Given the description of an element on the screen output the (x, y) to click on. 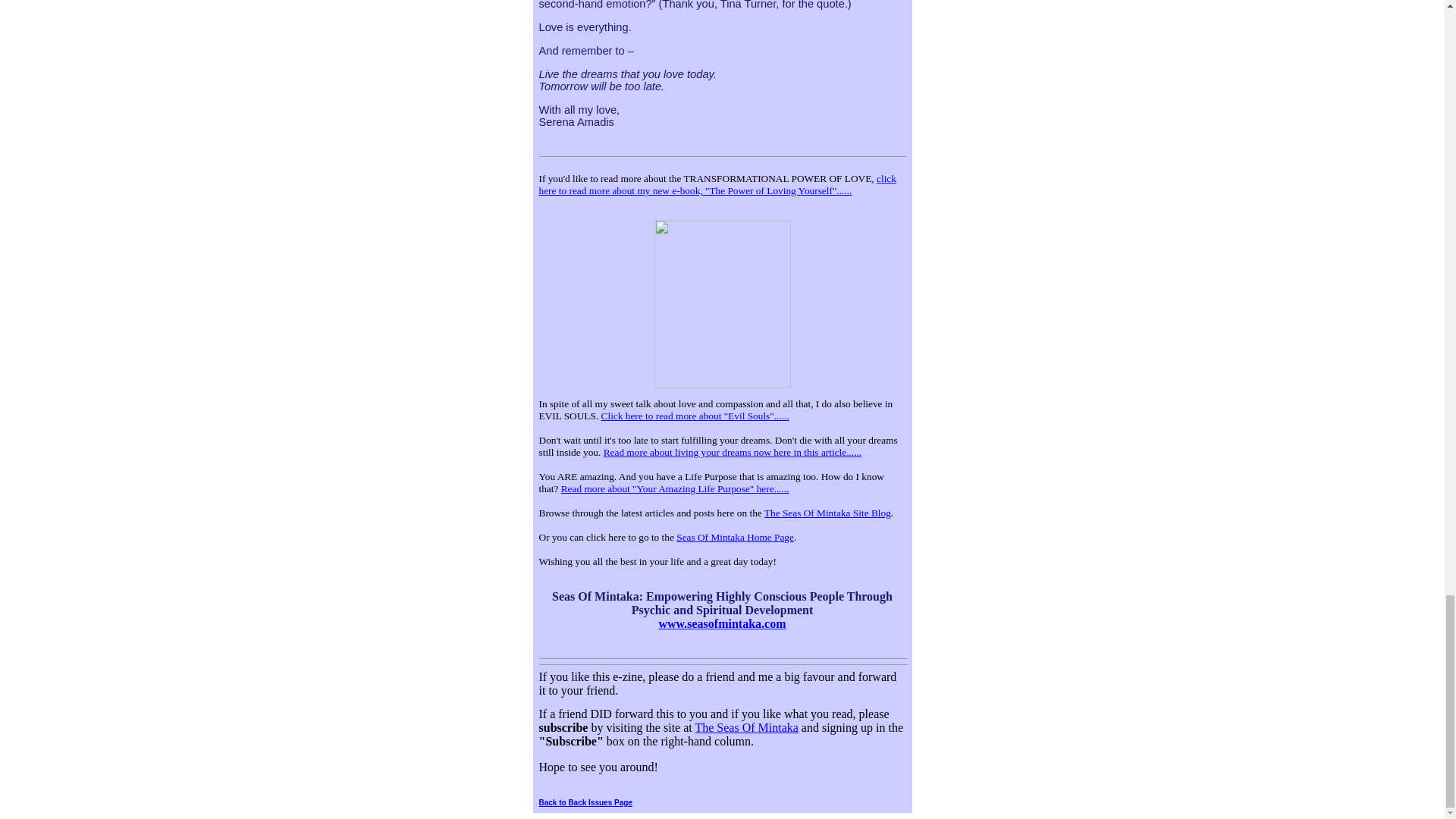
Back to Back Issues Page (584, 802)
The Power of Loving Yourself (721, 384)
The Seas Of Mintaka Site Blog (827, 512)
Click here to read more about "Evil Souls"...... (695, 415)
Read more about "Your Amazing Life Purpose" here...... (674, 488)
The Seas Of Mintaka (745, 727)
Seas Of Mintaka Home Page (735, 536)
www.seasofmintaka.com (722, 623)
